Given the description of an element on the screen output the (x, y) to click on. 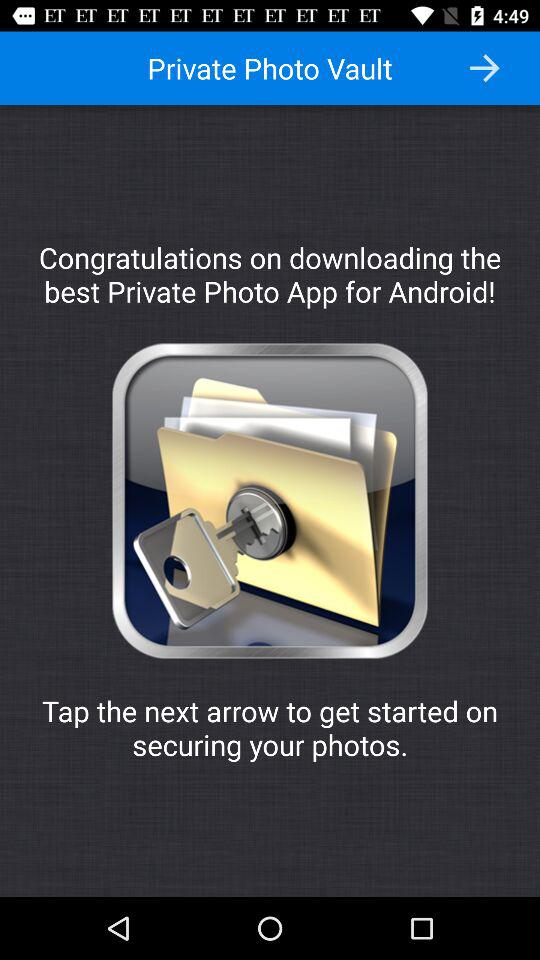
tap the item above the congratulations on downloading item (484, 68)
